Given the description of an element on the screen output the (x, y) to click on. 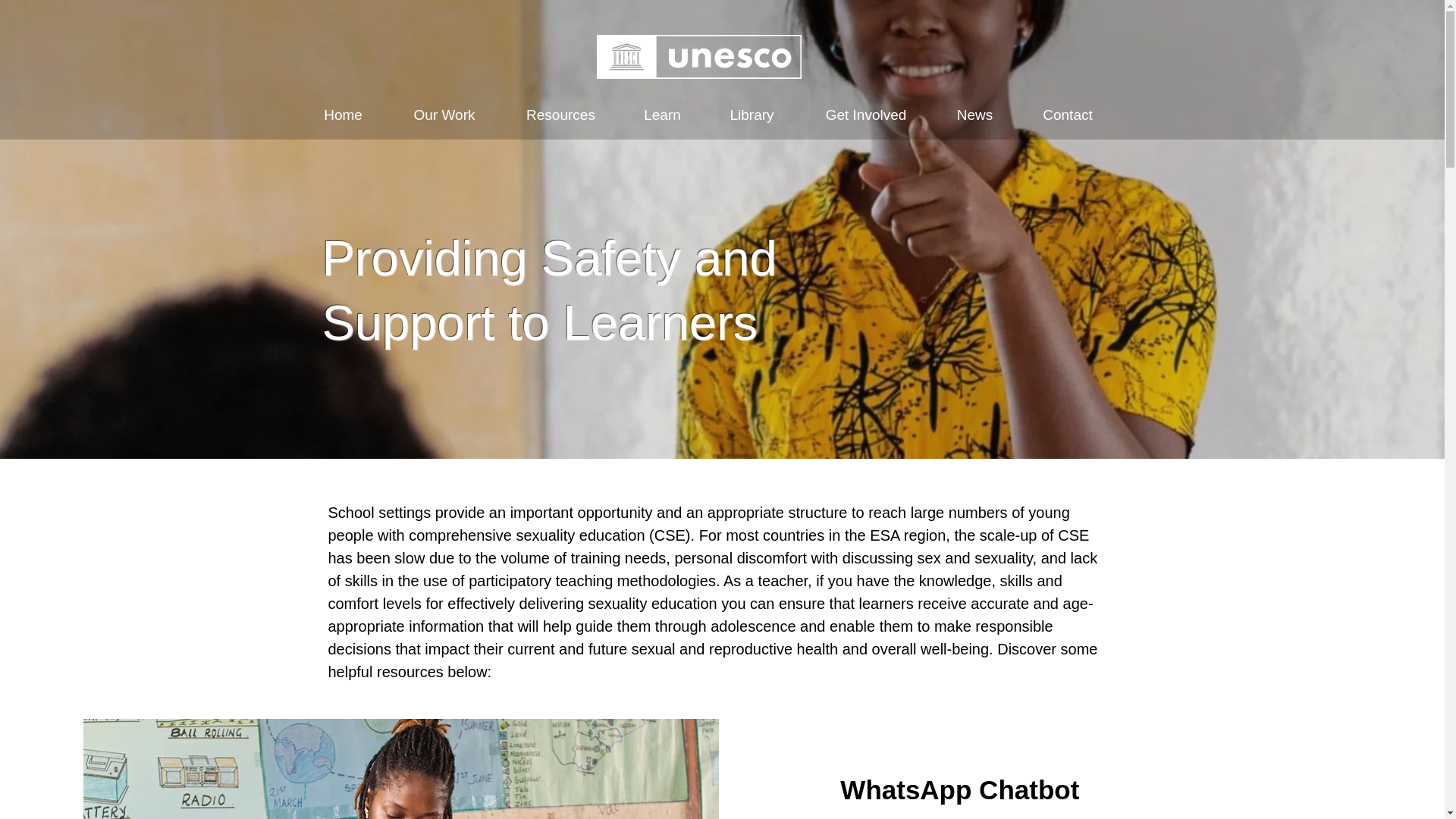
Contact (1067, 115)
Library (751, 115)
News (974, 115)
Home (342, 115)
Get Involved (866, 115)
Our Work (443, 115)
Learn (662, 115)
